Given the description of an element on the screen output the (x, y) to click on. 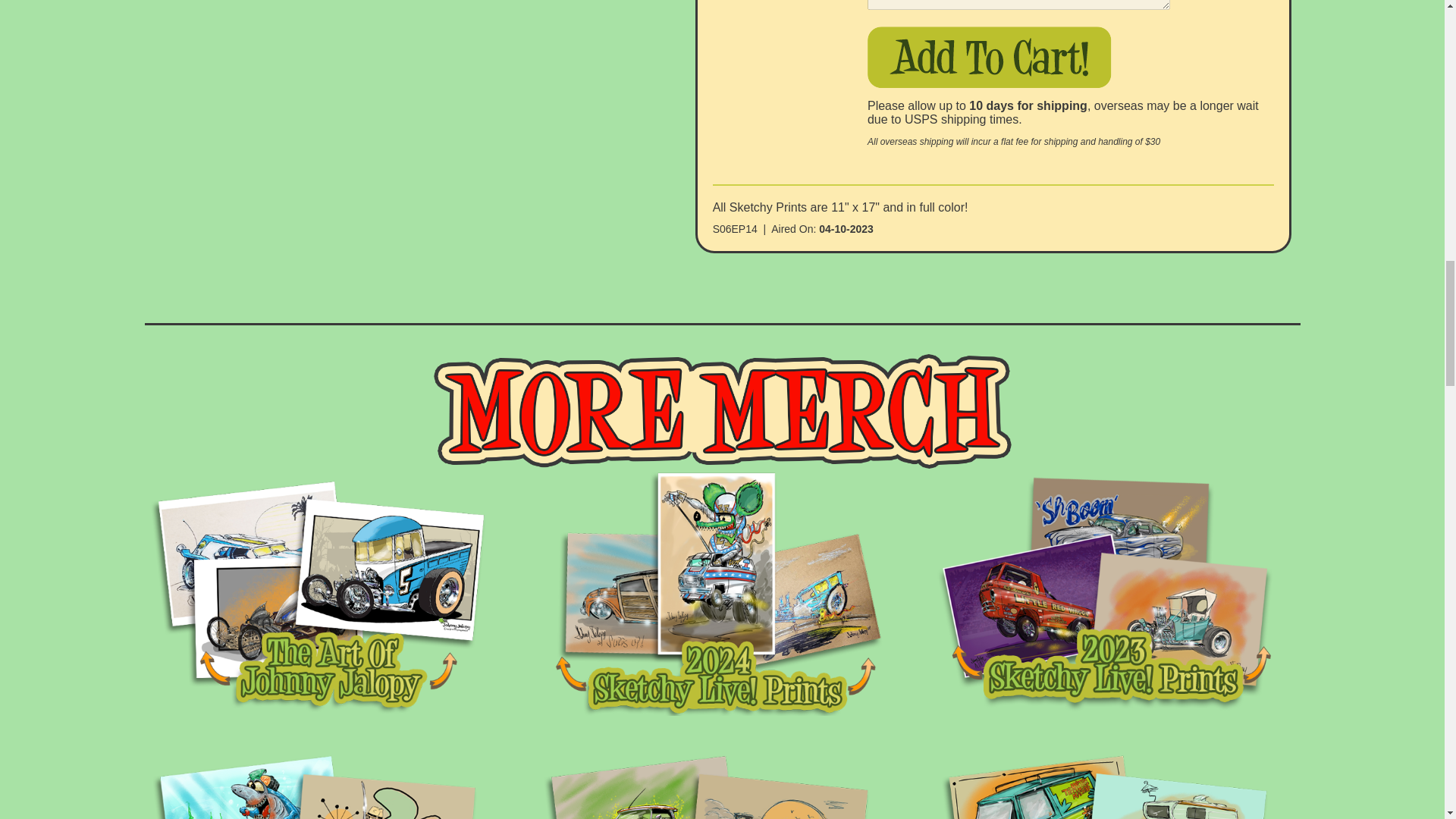
More Merch! (722, 410)
04-10-2023 (845, 228)
View 2022 Sketchy Live! Prints (325, 782)
View 2021 Sketchy Live! Prints (719, 782)
View The Art Of Johnny Jalopy (325, 593)
View 2023 Sketchy Live! Prints (1112, 593)
View 2024 Sketchy Live! Prints (719, 593)
View 2020 Sketchy Live! Prints (1112, 782)
